Given the description of an element on the screen output the (x, y) to click on. 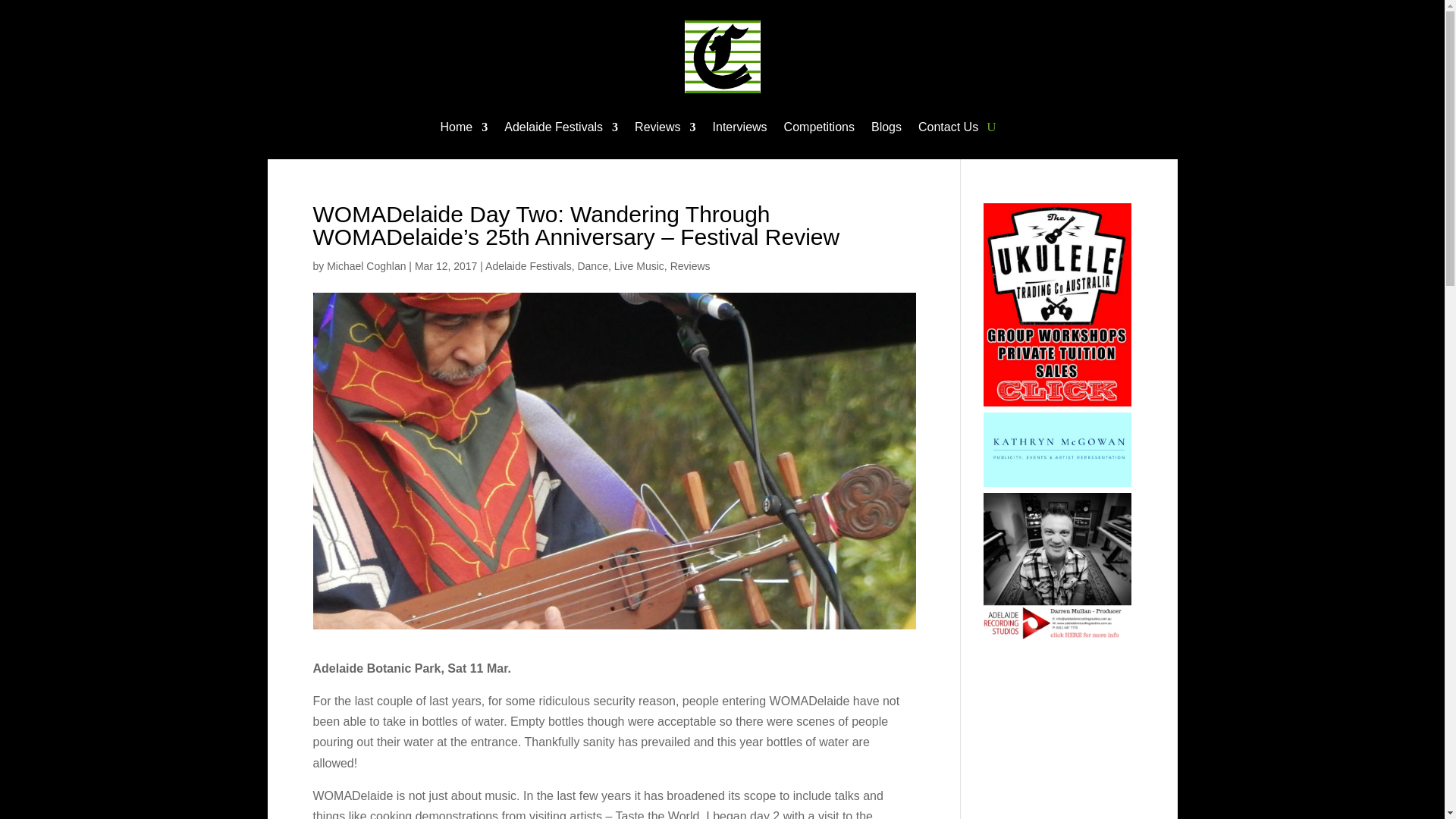
Posts by Michael Coghlan (366, 265)
Blogs (885, 129)
Competitions (819, 129)
Clothesline C icon 3 (722, 56)
Home (464, 129)
Interviews (740, 129)
Reviews (664, 129)
Contact Us (948, 129)
Adelaide Festivals (560, 129)
